Given the description of an element on the screen output the (x, y) to click on. 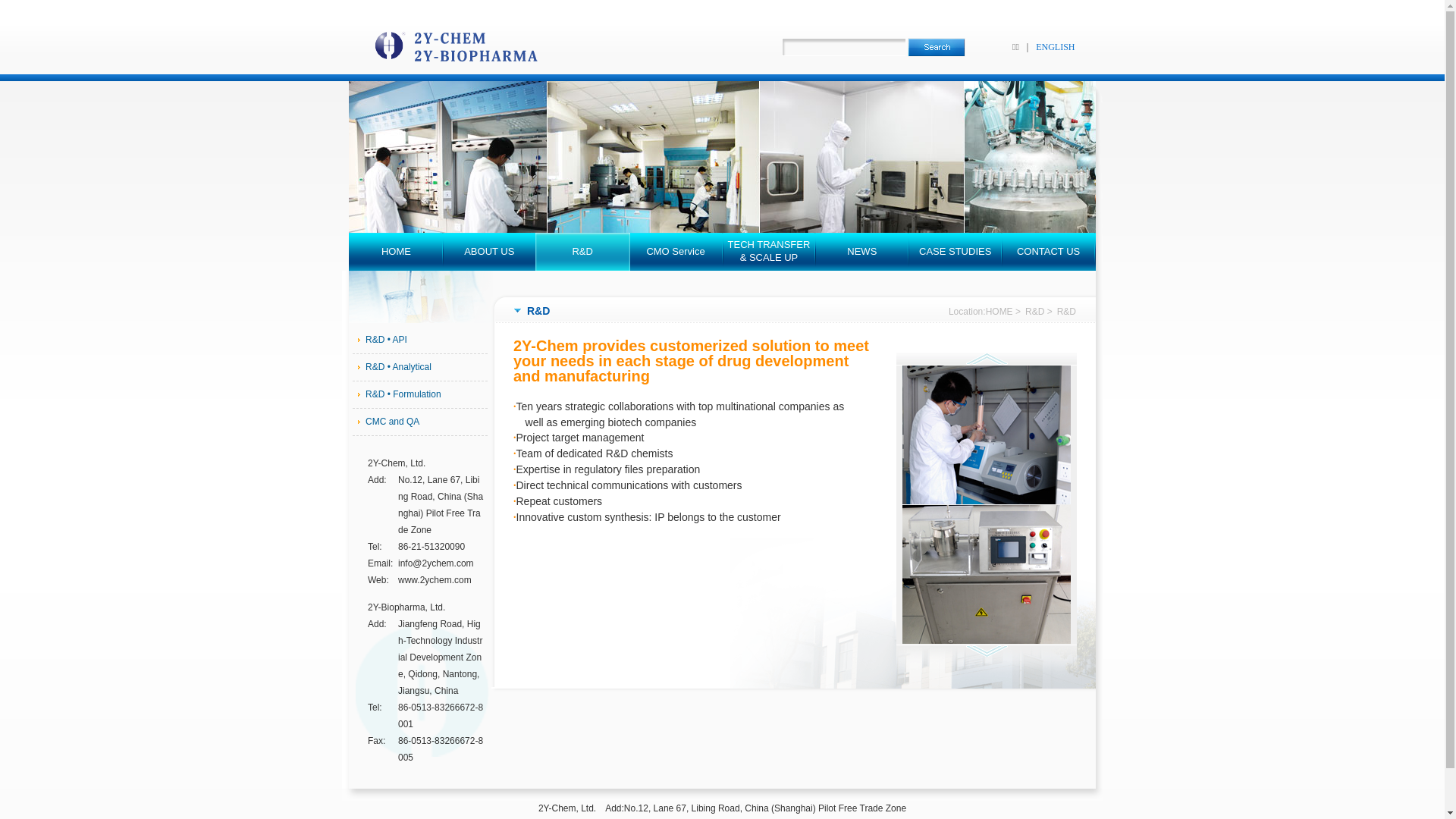
CONTACT US Element type: text (1048, 251)
R&D > Element type: text (1041, 311)
www.2ychem.com Element type: text (434, 579)
info@2ychem.com Element type: text (435, 563)
R&D Element type: text (582, 251)
CASE STUDIES Element type: text (954, 251)
TECH TRANSFER & SCALE UP Element type: text (768, 251)
NEWS Element type: text (861, 251)
HOME Element type: text (395, 251)
CMO Service Element type: text (675, 251)
ABOUT US Element type: text (489, 251)
CMC and QA Element type: text (419, 421)
HOME > Element type: text (1005, 311)
ENGLISH Element type: text (1055, 46)
